Given the description of an element on the screen output the (x, y) to click on. 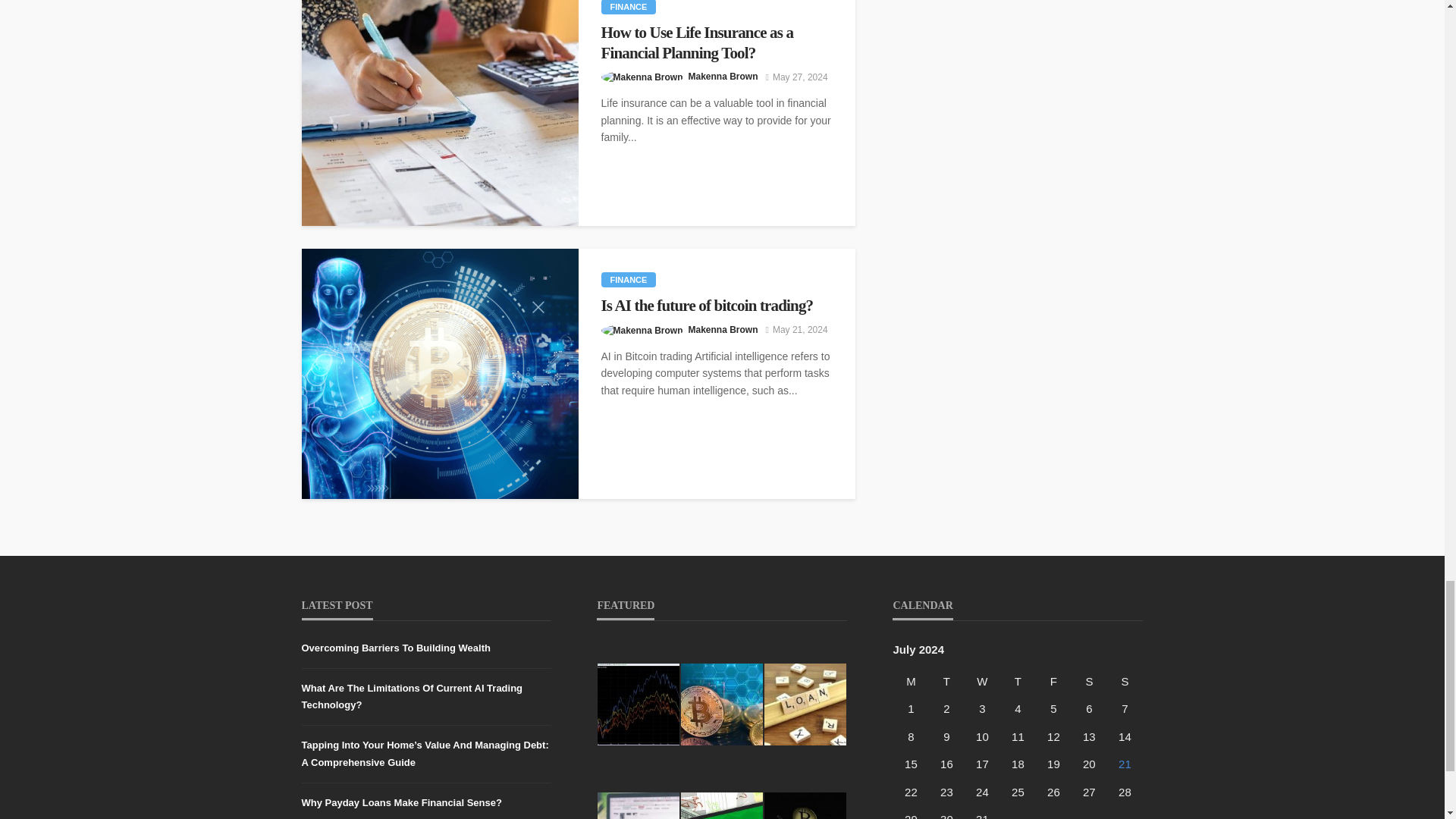
Makenna Brown (723, 76)
How to Use Life Insurance as a Financial Planning Tool? (439, 113)
Finance (627, 7)
FINANCE (627, 7)
How to Use Life Insurance as a Financial Planning Tool? (715, 42)
Is AI the future of bitcoin trading? (439, 373)
Finance (627, 279)
How to Use Life Insurance as a Financial Planning Tool? (715, 42)
